Given the description of an element on the screen output the (x, y) to click on. 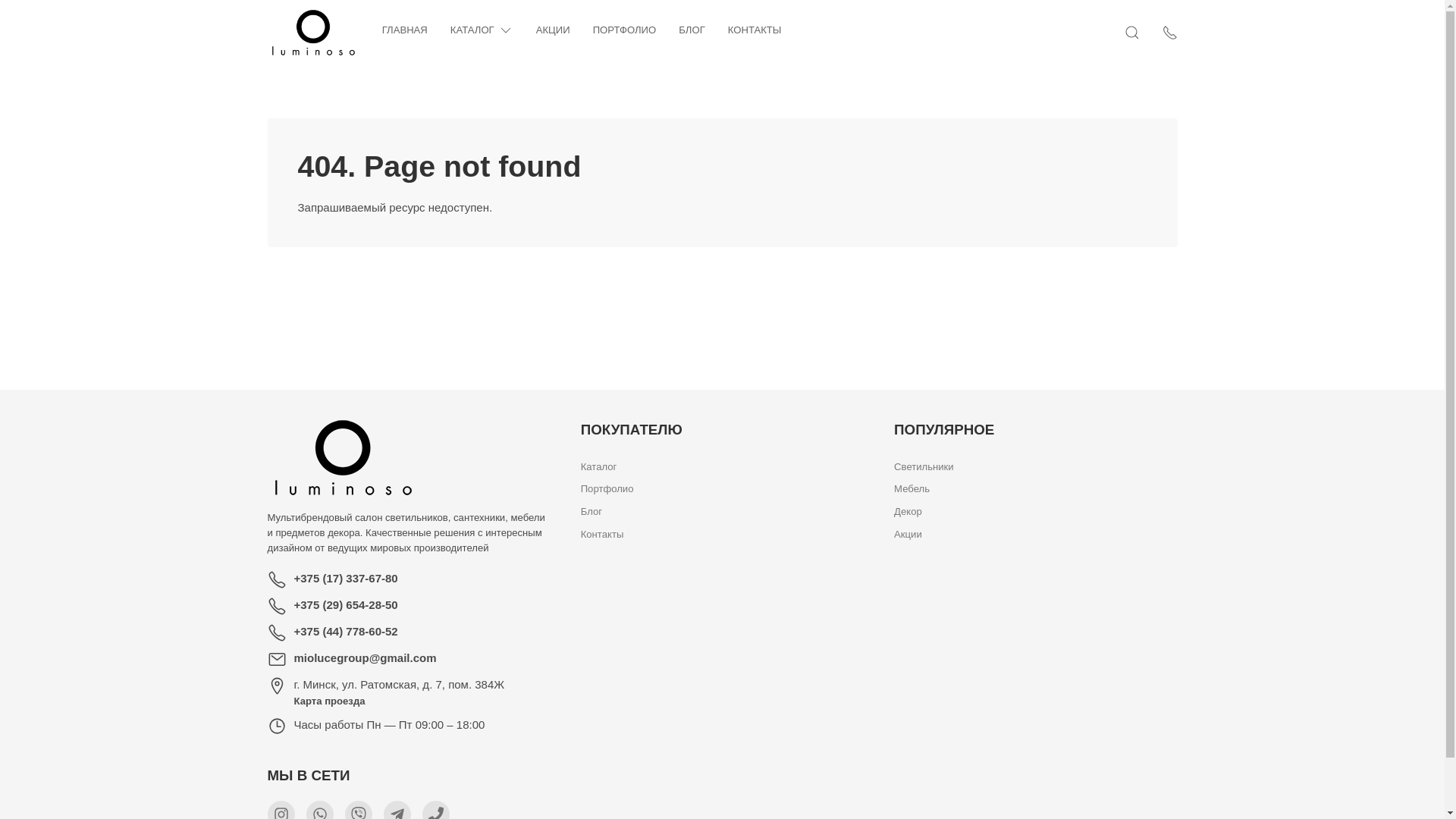
+375 (44) 778-60-52 Element type: text (346, 630)
+375 (29) 654-28-50 Element type: text (346, 604)
miolucegroup@gmail.com Element type: text (365, 657)
+375 (17) 337-67-80 Element type: text (346, 577)
